Given the description of an element on the screen output the (x, y) to click on. 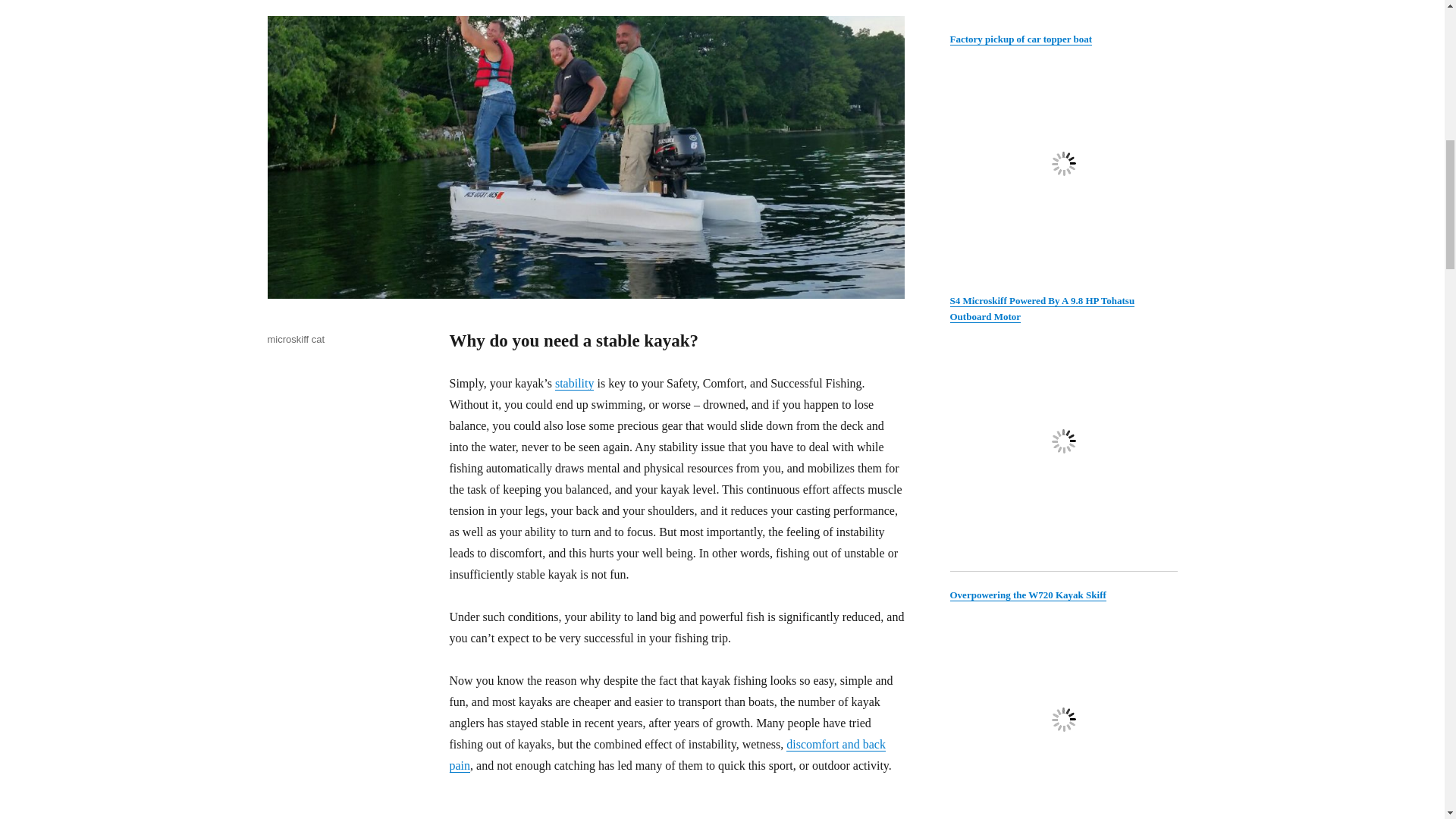
stability (574, 382)
discomfort and back pain (666, 754)
microskiff cat (295, 338)
